Given the description of an element on the screen output the (x, y) to click on. 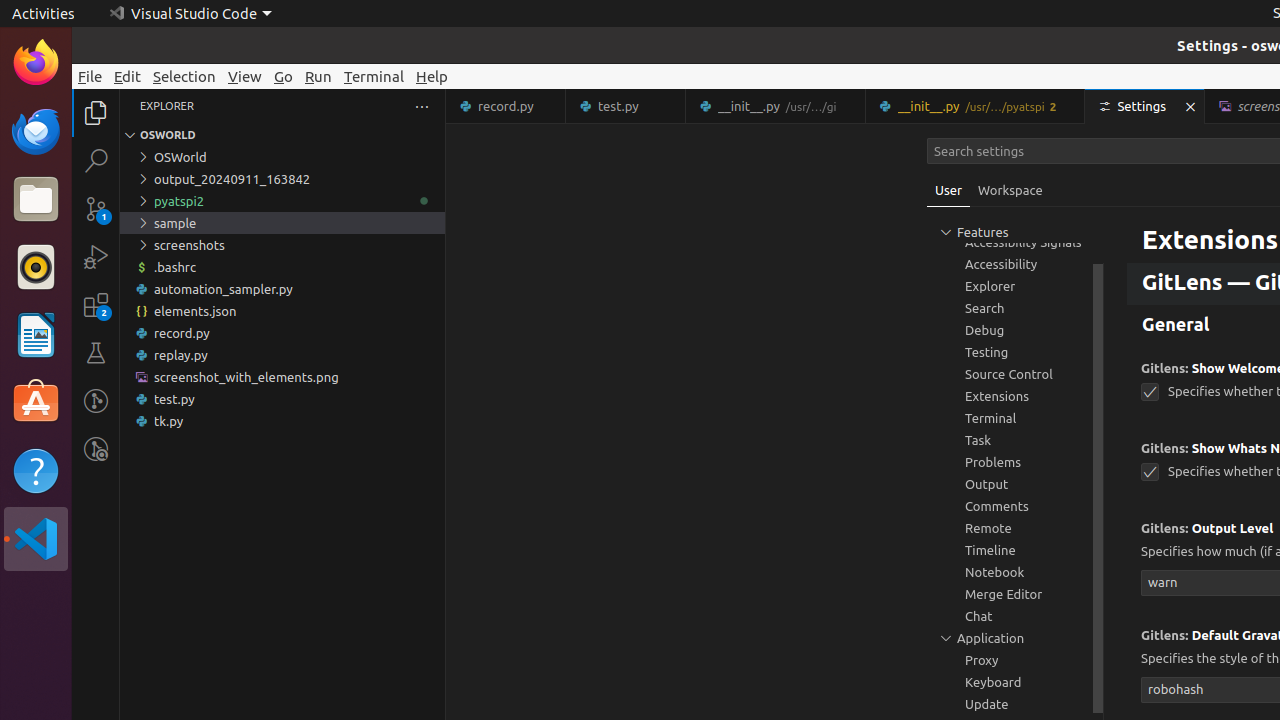
record.py Element type: tree-item (282, 333)
Settings Element type: page-tab (1145, 106)
Debug, group Element type: tree-item (1015, 330)
Explorer Section: osworld Element type: push-button (282, 135)
